Given the description of an element on the screen output the (x, y) to click on. 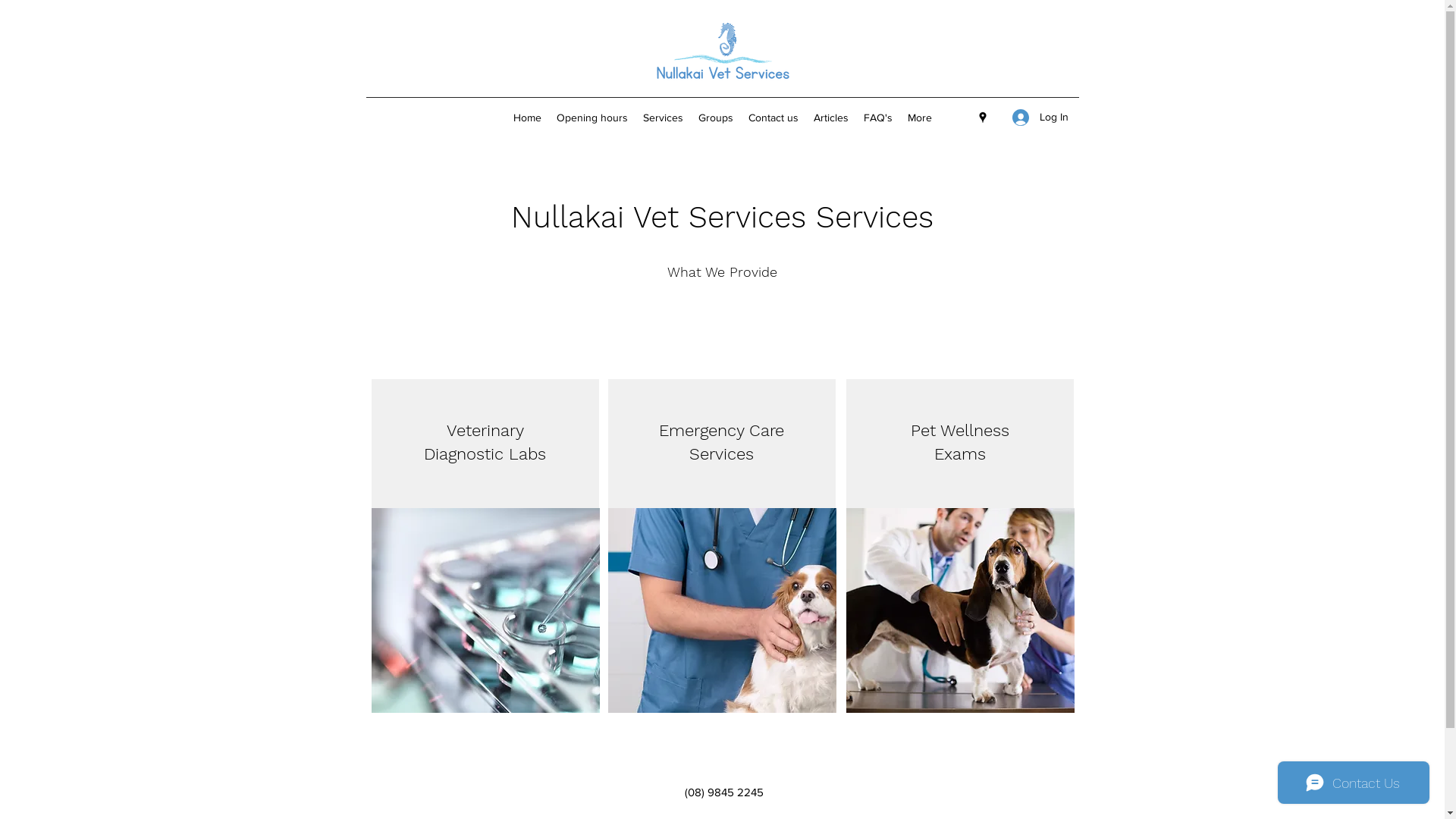
Home Element type: text (526, 117)
Contact us Element type: text (772, 117)
Groups Element type: text (715, 117)
Opening hours Element type: text (592, 117)
Services Element type: text (662, 117)
Articles Element type: text (830, 117)
FAQ's Element type: text (877, 117)
Log In Element type: text (1039, 117)
